Given the description of an element on the screen output the (x, y) to click on. 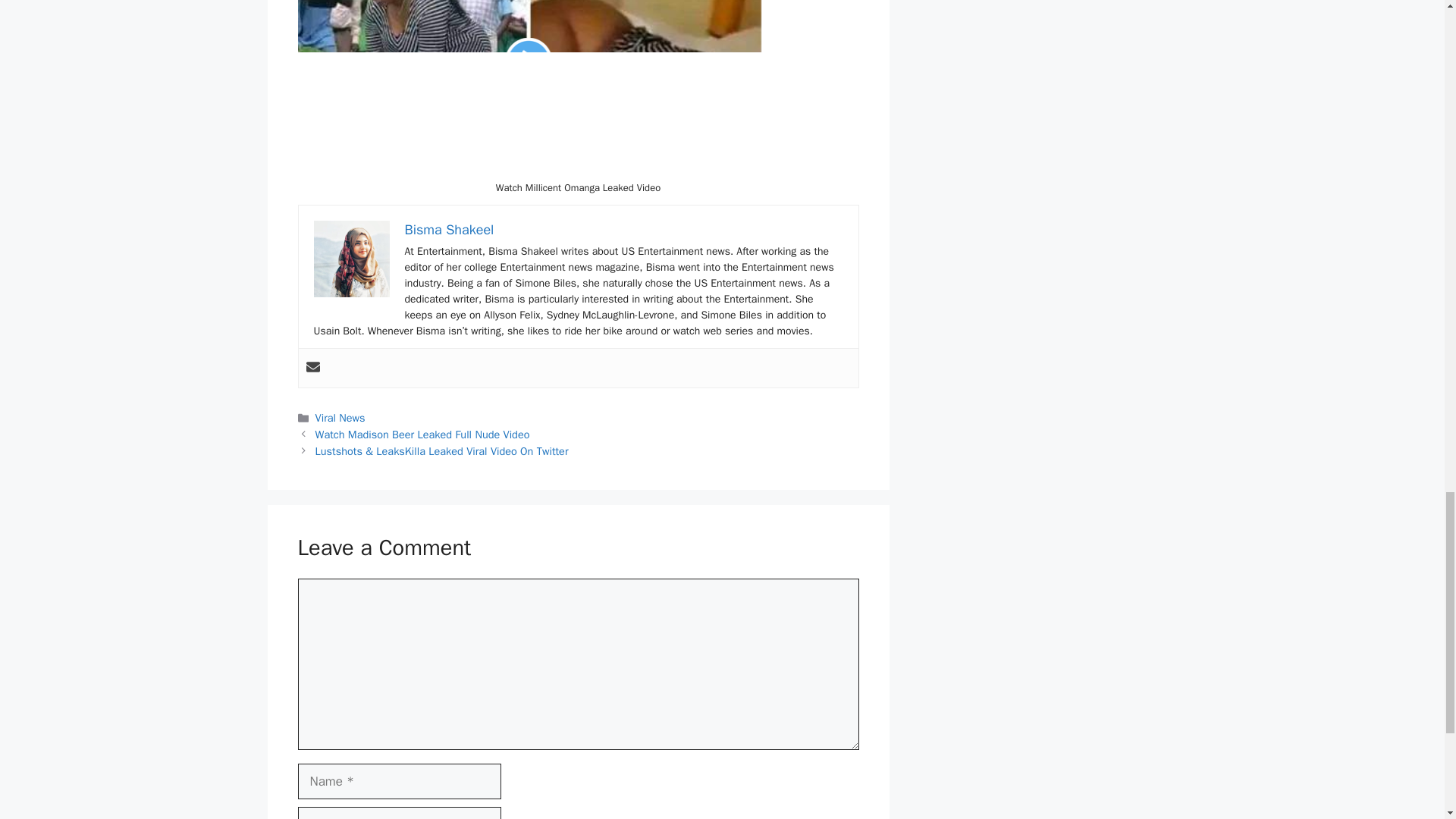
Watch Madison Beer Leaked Full Nude Video (422, 434)
Bisma Shakeel (449, 229)
Viral News (340, 418)
